Given the description of an element on the screen output the (x, y) to click on. 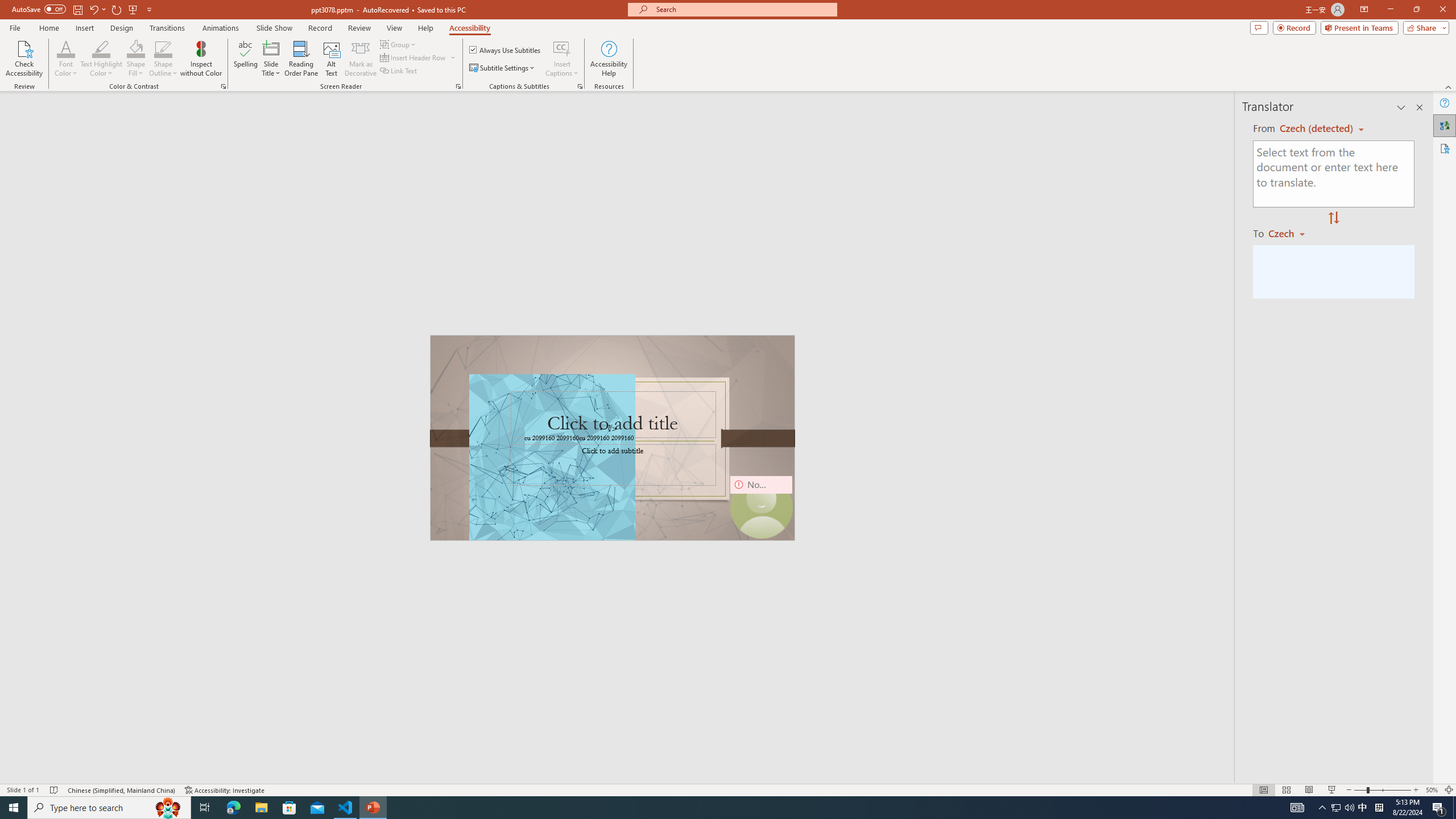
Captions & Subtitles (580, 85)
Insert Header Row (418, 56)
Reading Order Pane (301, 58)
